Given the description of an element on the screen output the (x, y) to click on. 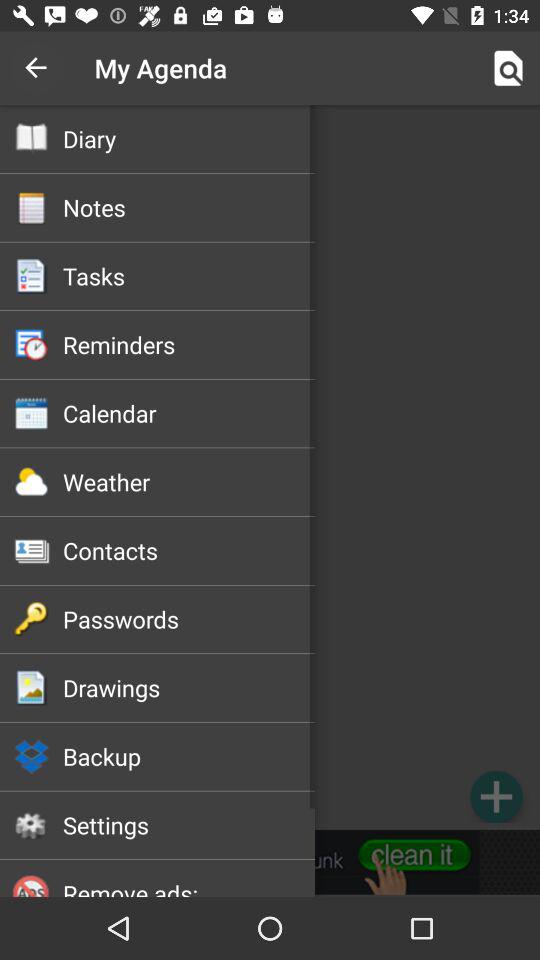
jump until backup icon (188, 756)
